Given the description of an element on the screen output the (x, y) to click on. 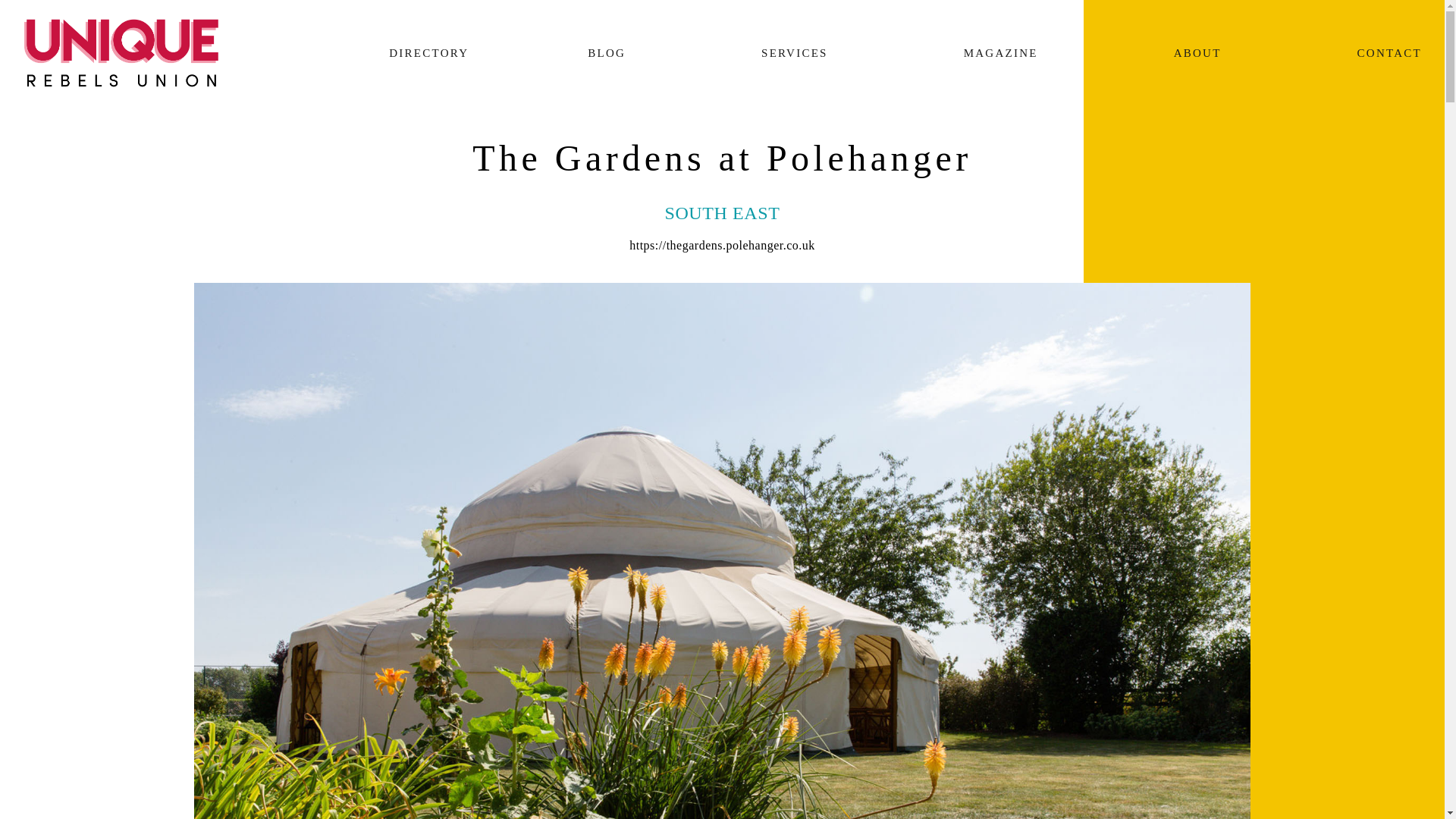
MAGAZINE (1000, 53)
CONTACT (1381, 53)
DIRECTORY (420, 53)
SOUTH EAST (720, 212)
Unique Rebels Union (121, 52)
SERVICES (794, 53)
BLOG (606, 53)
ABOUT (1198, 53)
